Given the description of an element on the screen output the (x, y) to click on. 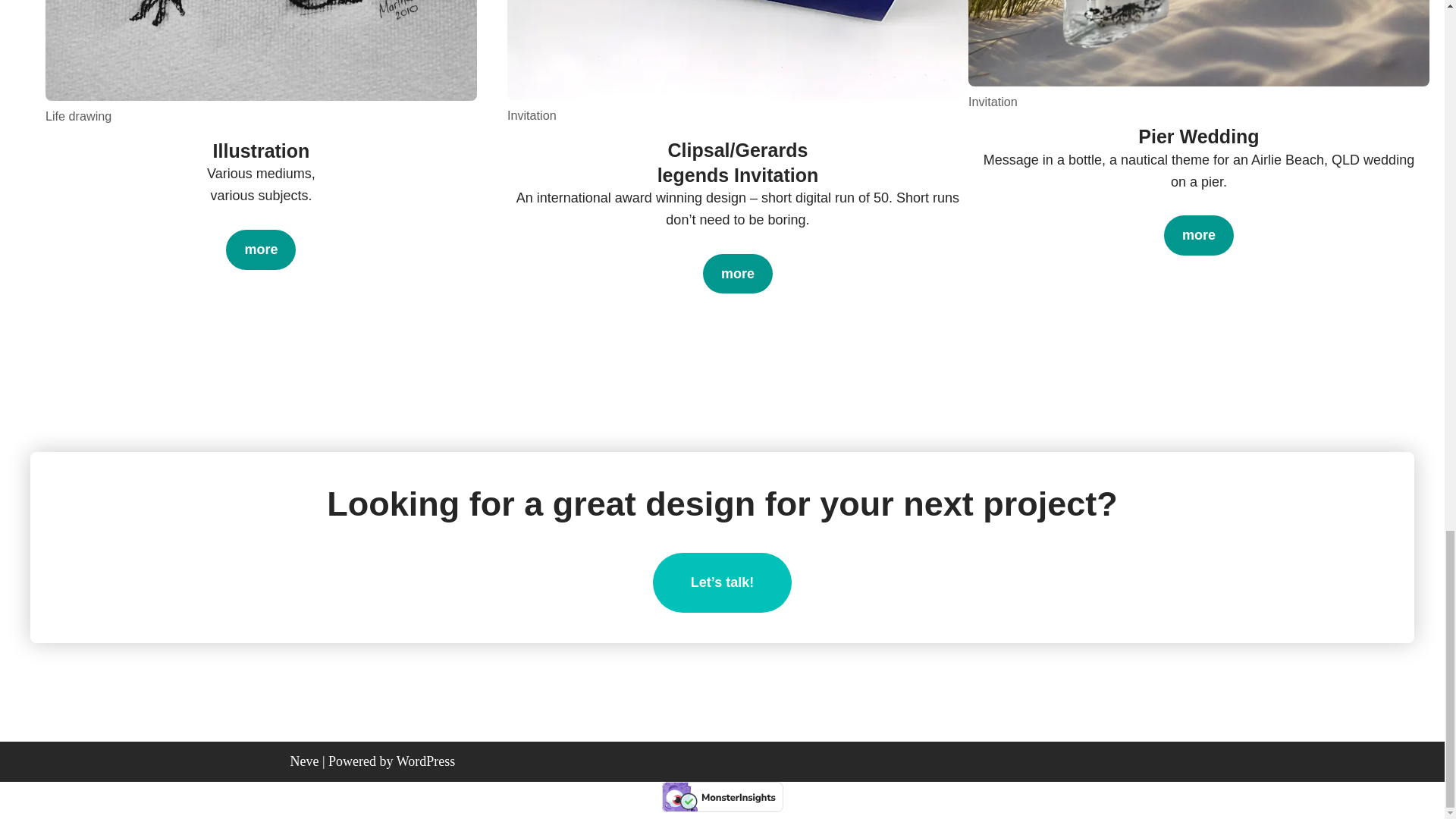
more (260, 250)
Verified by MonsterInsights (722, 797)
more (1198, 235)
more (738, 273)
